Given the description of an element on the screen output the (x, y) to click on. 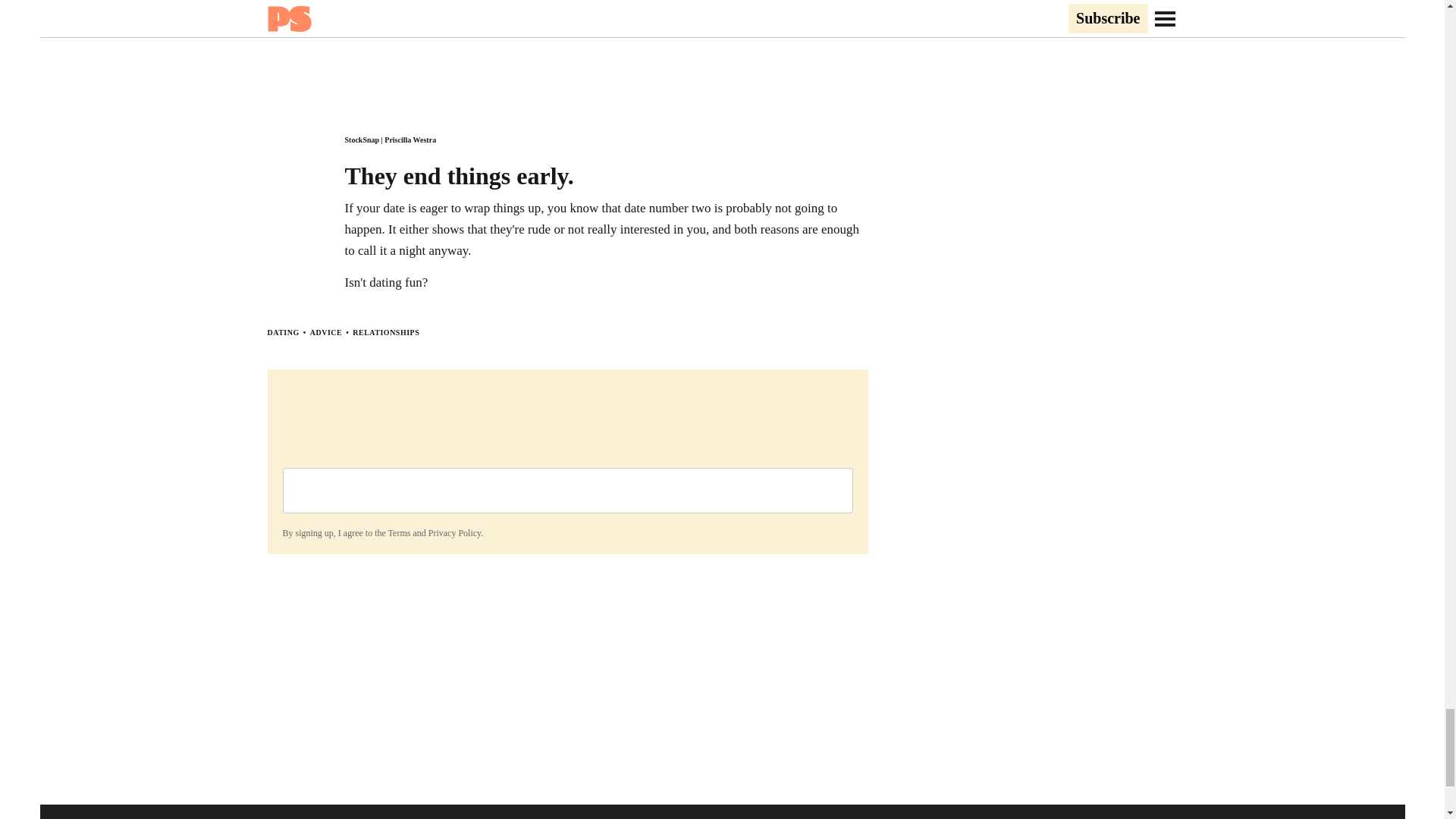
Terms (399, 532)
DATING (282, 332)
ADVICE (326, 332)
RELATIONSHIPS (385, 332)
Privacy Policy. (455, 532)
